Given the description of an element on the screen output the (x, y) to click on. 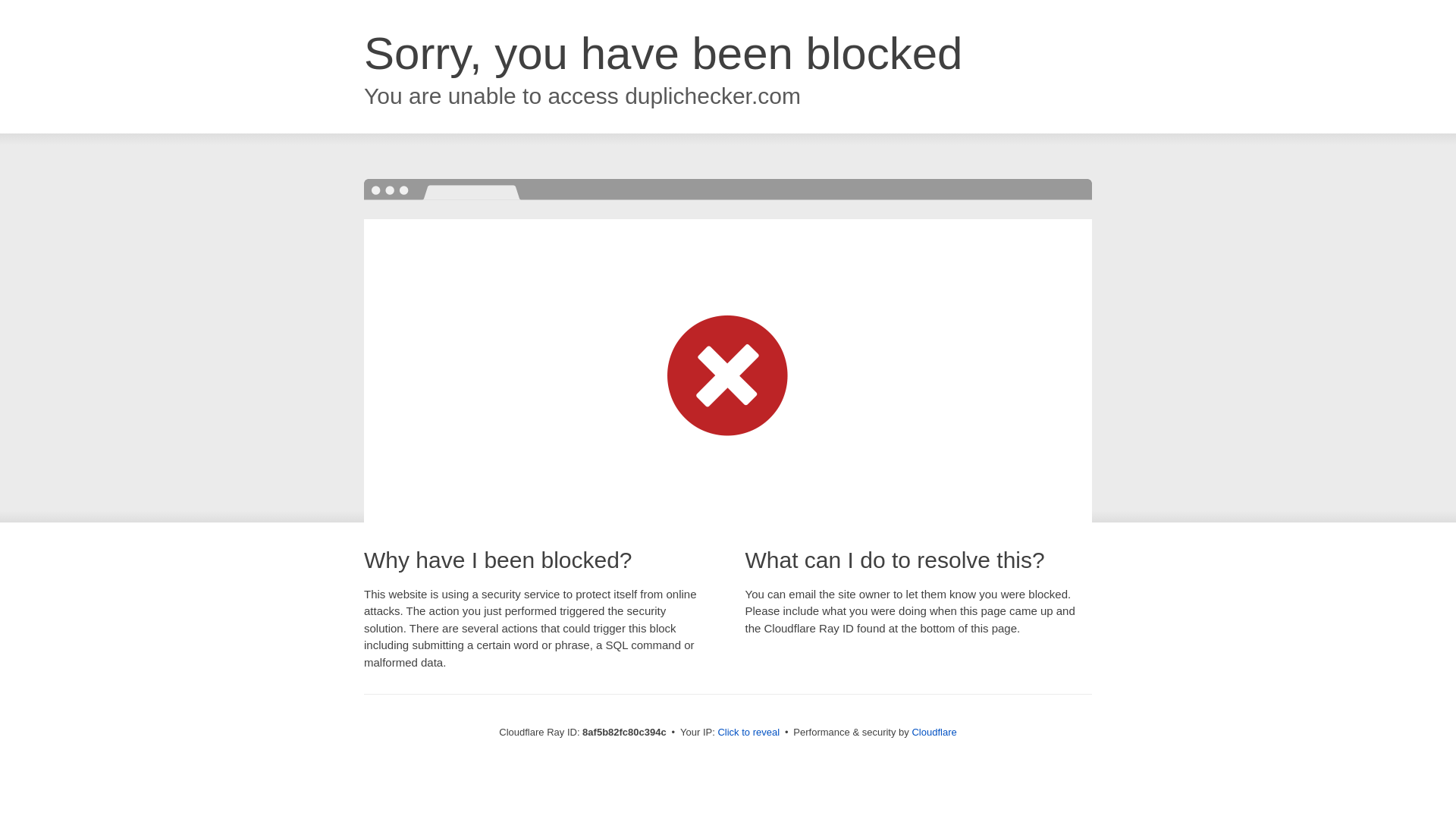
Click to reveal (747, 732)
Cloudflare (933, 731)
